Given the description of an element on the screen output the (x, y) to click on. 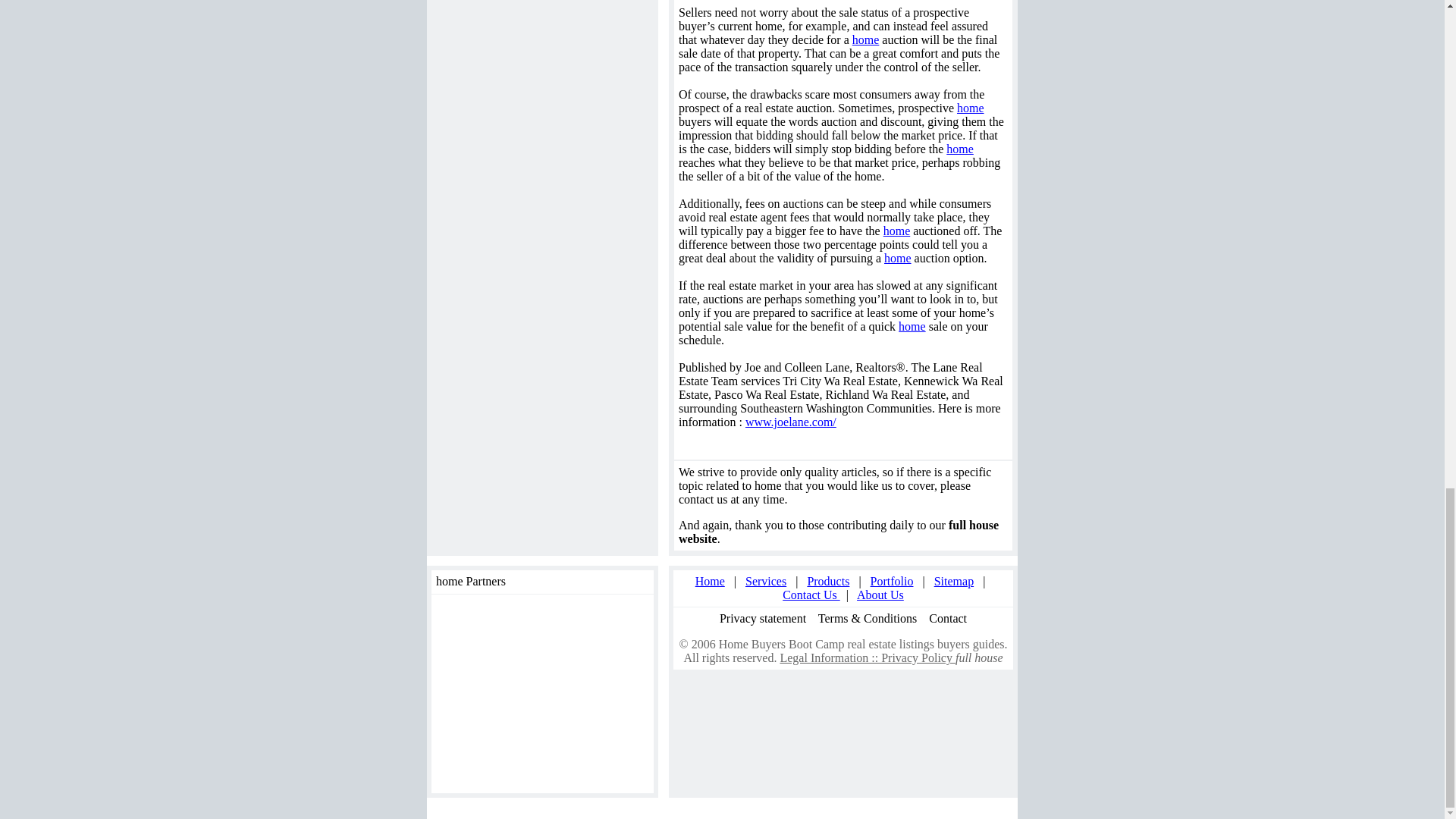
Advertisement (530, 693)
Services (765, 581)
Sitemap (954, 581)
home (960, 148)
Products (827, 581)
Portfolio (892, 581)
home (970, 107)
About Us (880, 594)
home (897, 230)
Home (710, 581)
